Given the description of an element on the screen output the (x, y) to click on. 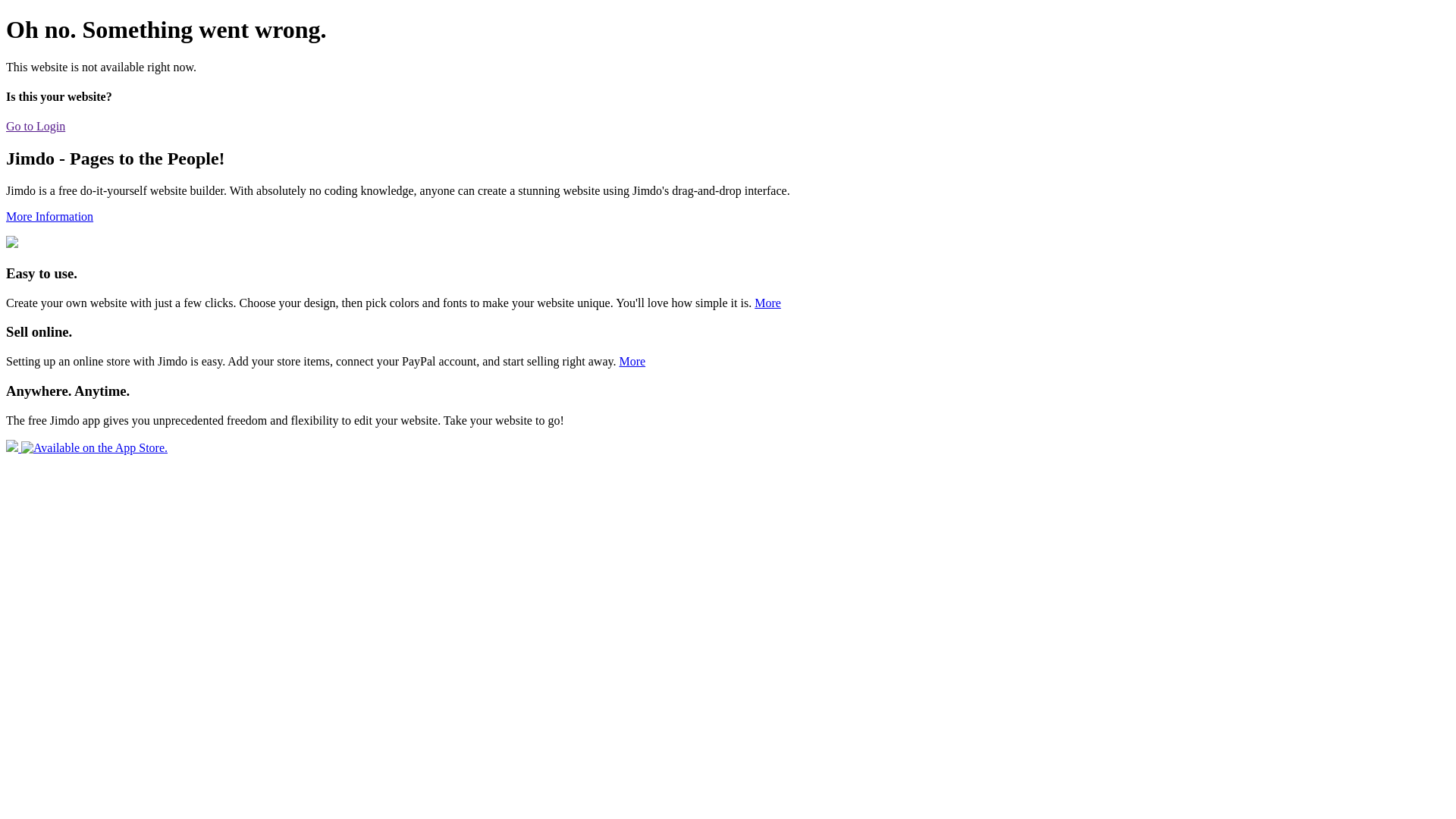
Go to Login Element type: text (35, 125)
More Element type: text (631, 360)
More Information Element type: text (49, 216)
More Element type: text (767, 302)
Available on the App Store. Element type: hover (86, 447)
